Given the description of an element on the screen output the (x, y) to click on. 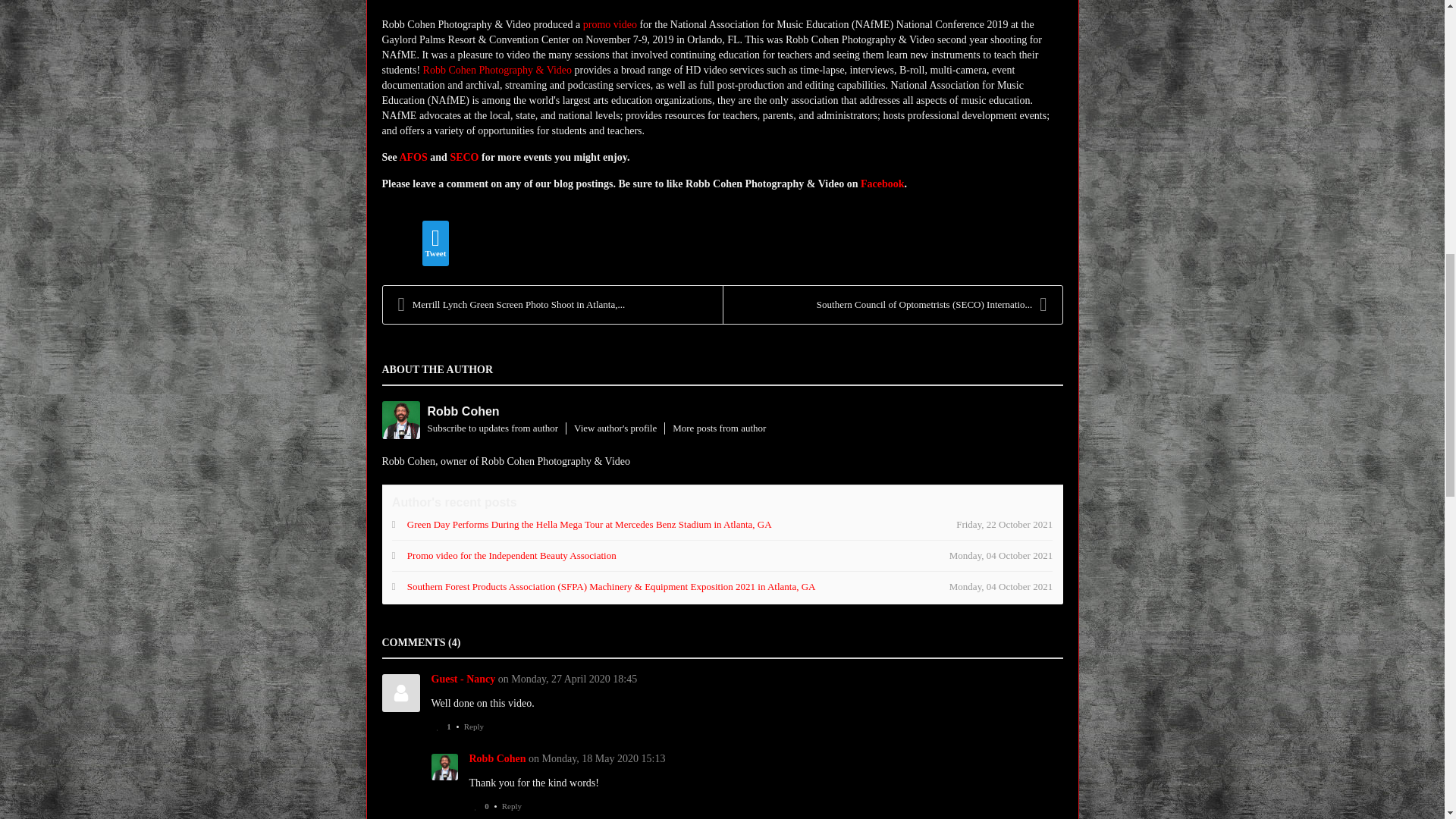
Robb Cohen (443, 766)
Guest (462, 678)
Guest (400, 692)
Robb Cohen (496, 758)
